Given the description of an element on the screen output the (x, y) to click on. 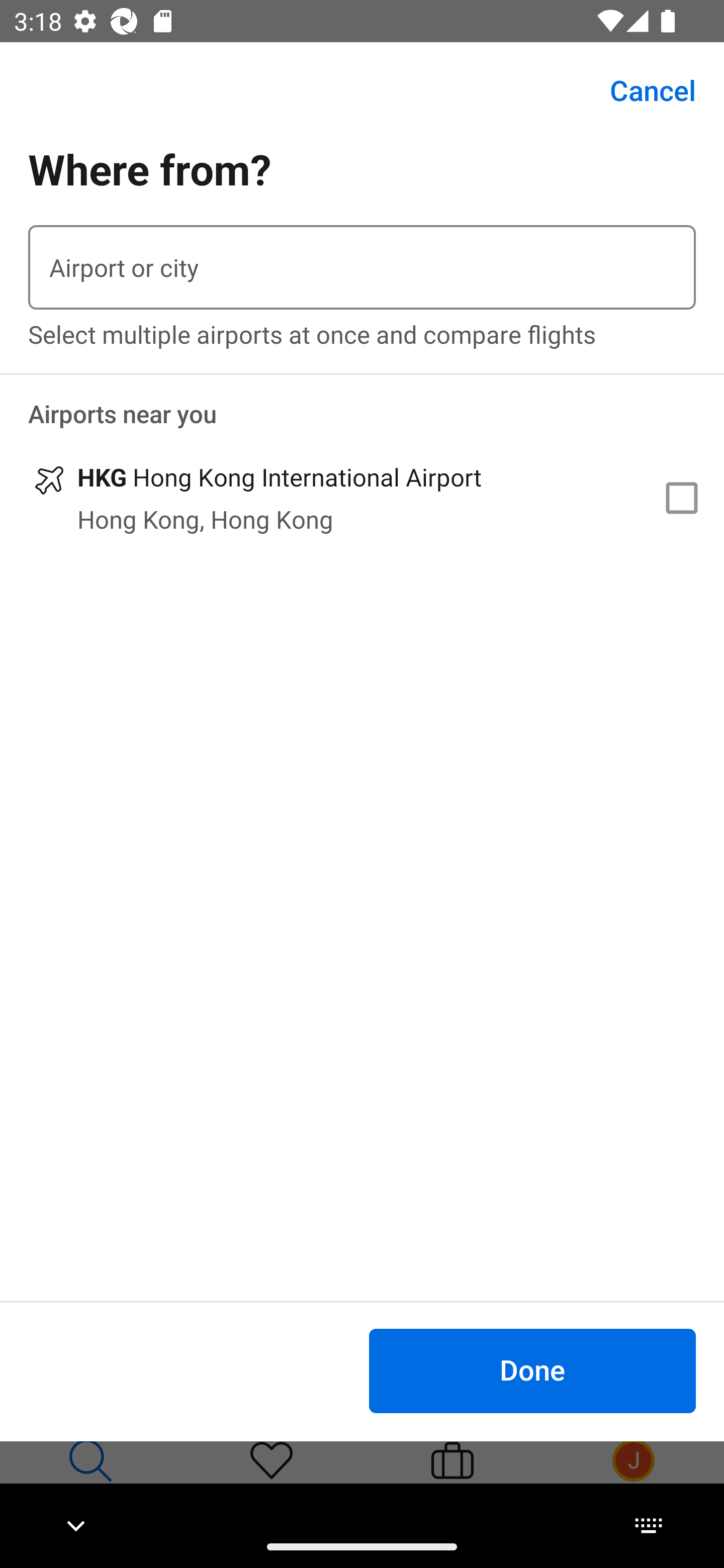
Cancel (641, 90)
Airport or city (361, 266)
Done (532, 1370)
